Given the description of an element on the screen output the (x, y) to click on. 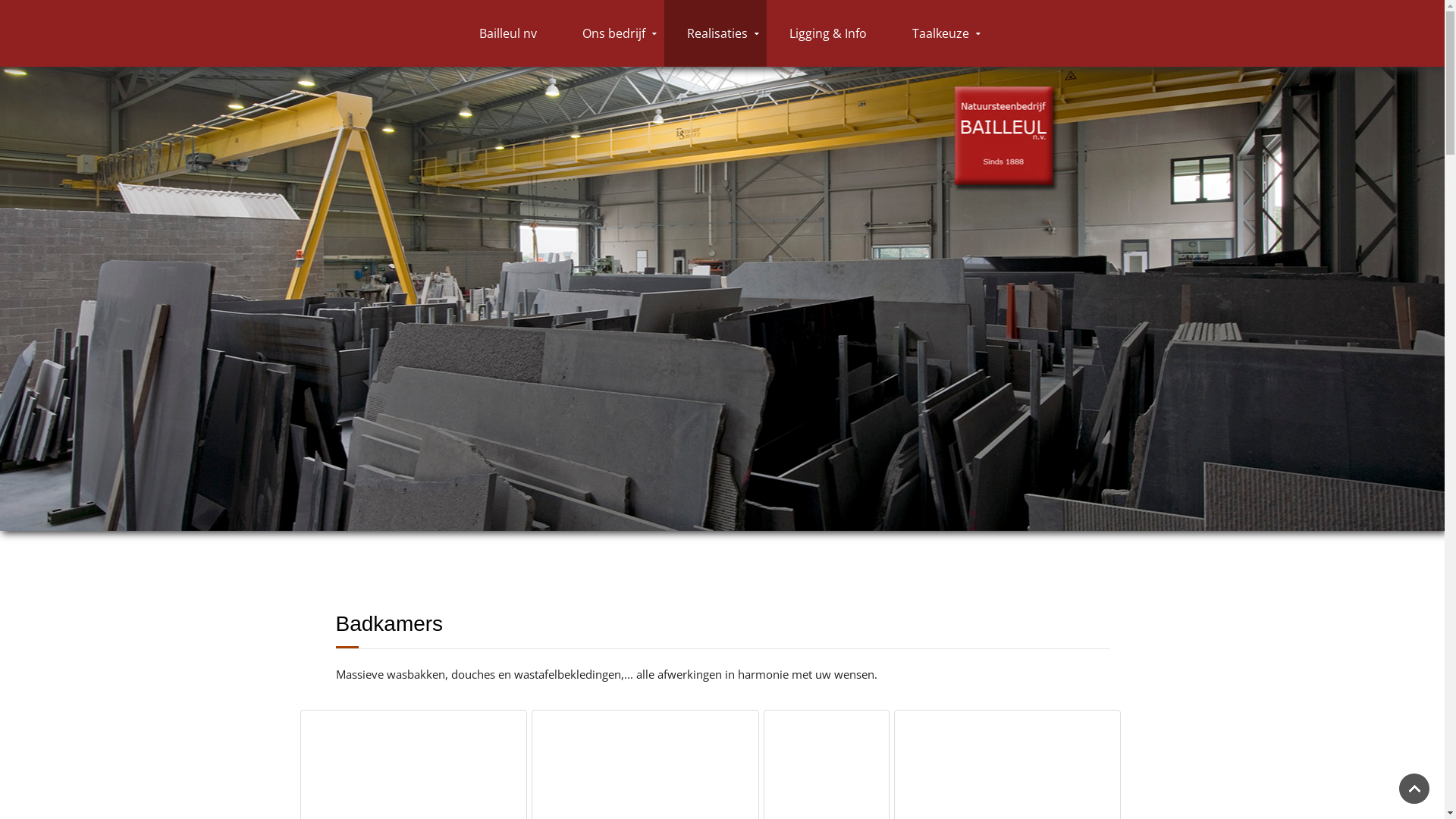
Ligging & Info Element type: text (827, 33)
Taalkeuze Element type: text (938, 33)
Bailleul nv Element type: text (507, 33)
Realisaties Element type: text (715, 33)
Ons bedrijf Element type: text (611, 33)
